Given the description of an element on the screen output the (x, y) to click on. 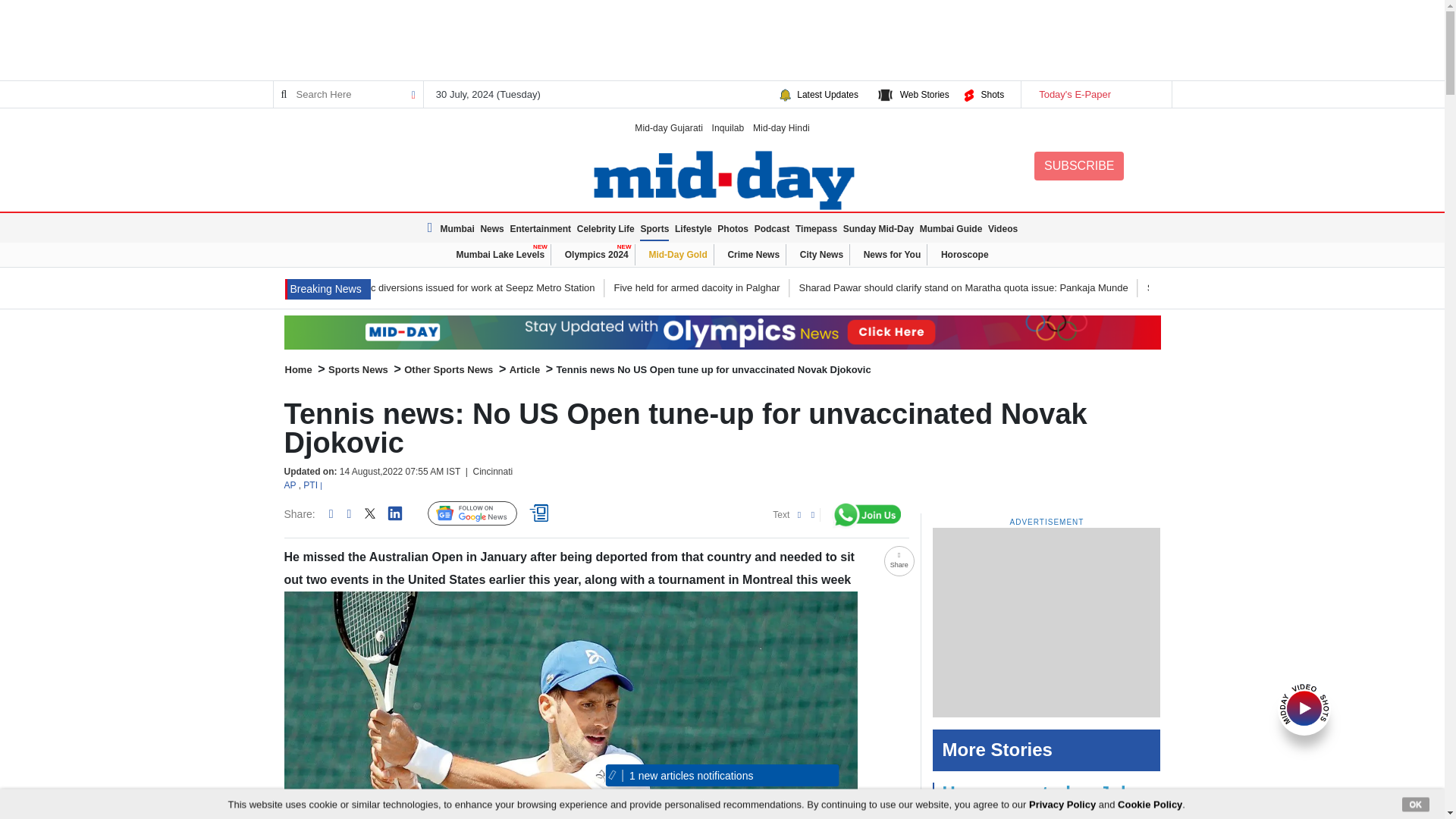
Today's E-Paper (1095, 94)
Latest News (328, 289)
Web Stories (924, 94)
Inquilab (728, 127)
SUBSCRIBE (1078, 165)
Shots (991, 94)
Olympic 2024 (721, 332)
Latest News (432, 227)
Mid-day Hindi (780, 127)
Quick Reads (541, 513)
Latest Updates (827, 94)
Mid-day Gujarati (668, 127)
Midday Shot Videos (1304, 706)
